Given the description of an element on the screen output the (x, y) to click on. 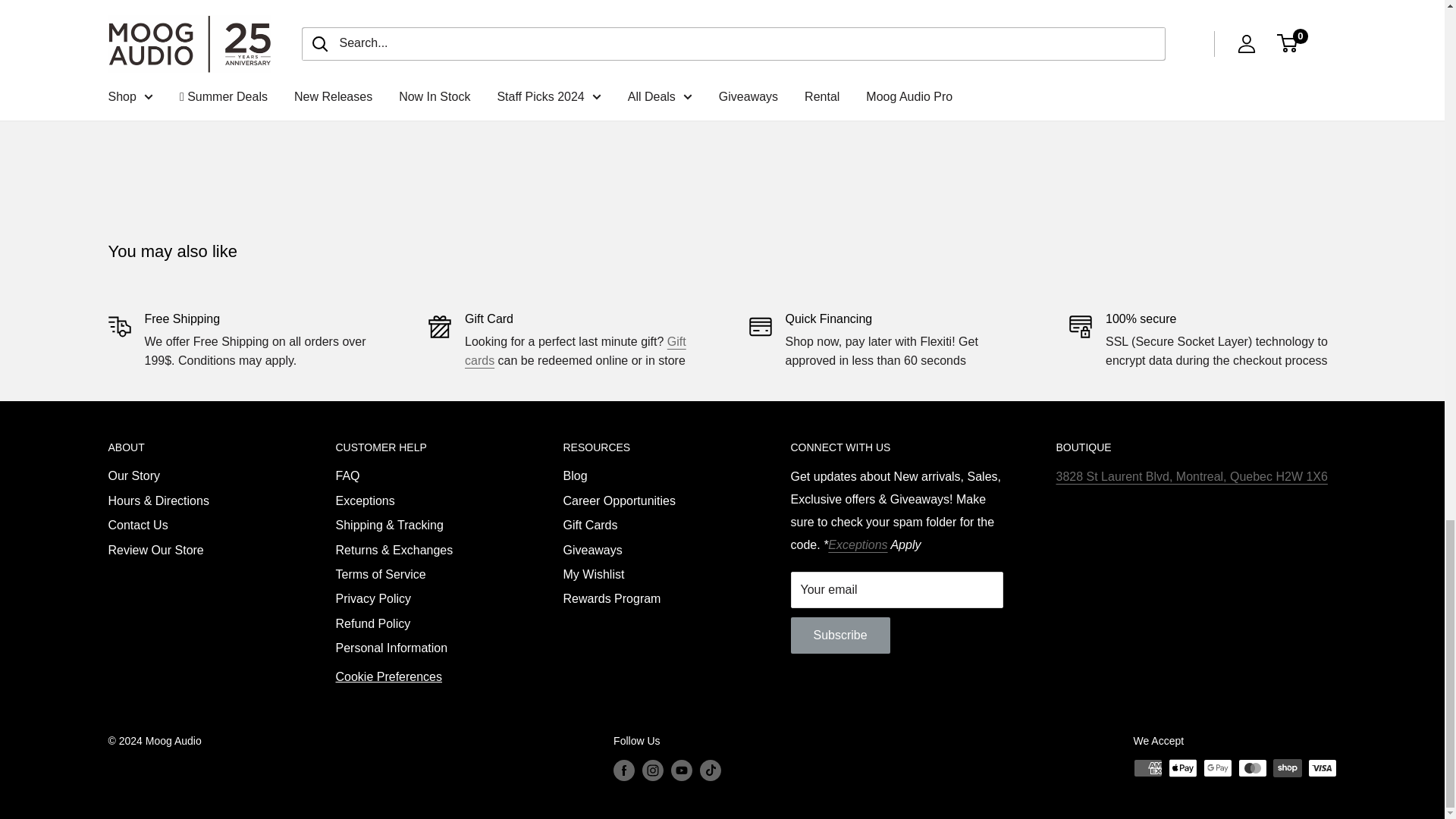
Gift Cards (574, 350)
